Given the description of an element on the screen output the (x, y) to click on. 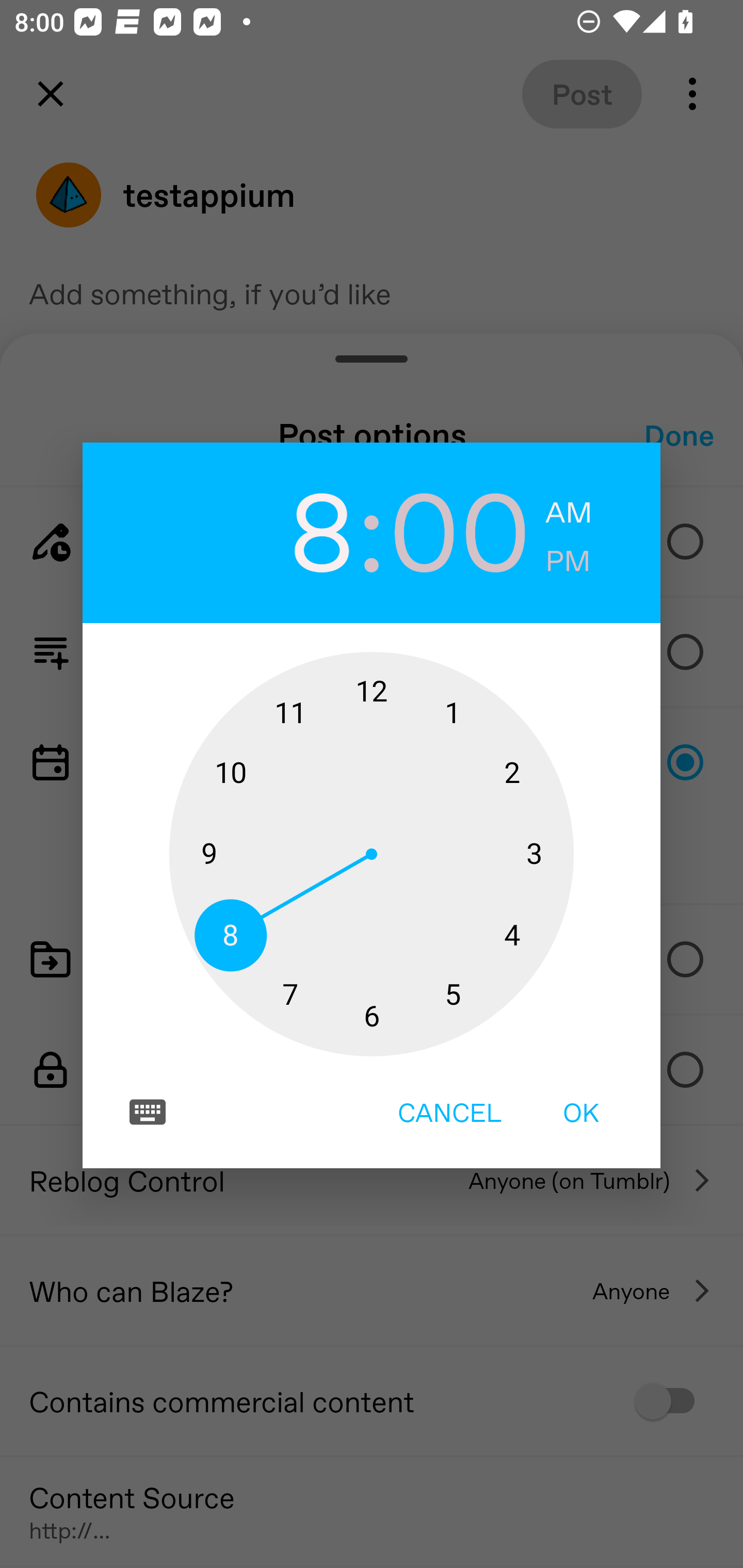
8 (282, 528)
00 (459, 528)
AM (568, 512)
PM (567, 560)
CANCEL (449, 1111)
OK (580, 1111)
Switch to text input mode for the time input. (147, 1112)
